Given the description of an element on the screen output the (x, y) to click on. 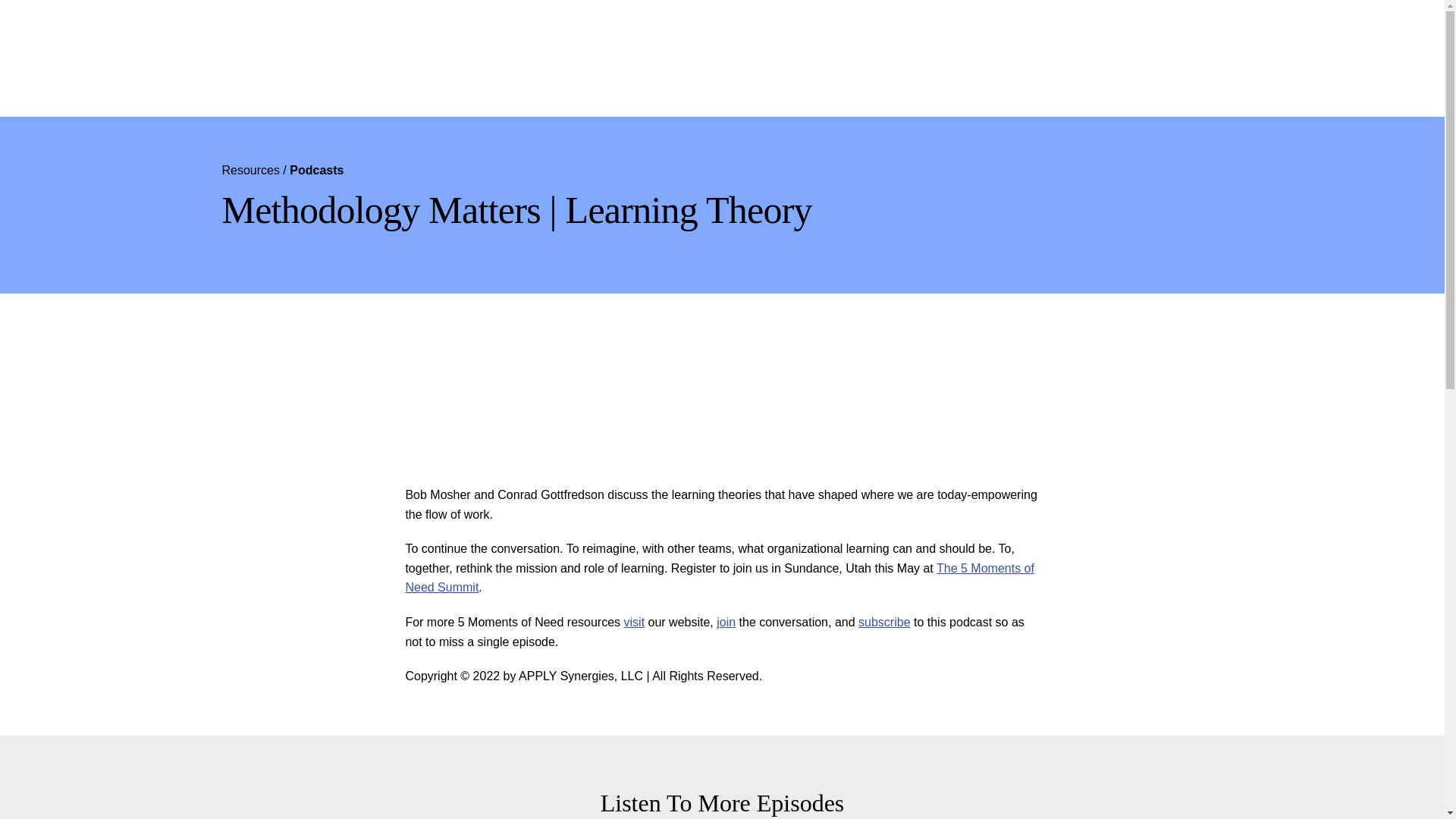
The 5 Moments of Need Summit (718, 577)
visit (634, 621)
subscribe (884, 621)
join (725, 621)
